Given the description of an element on the screen output the (x, y) to click on. 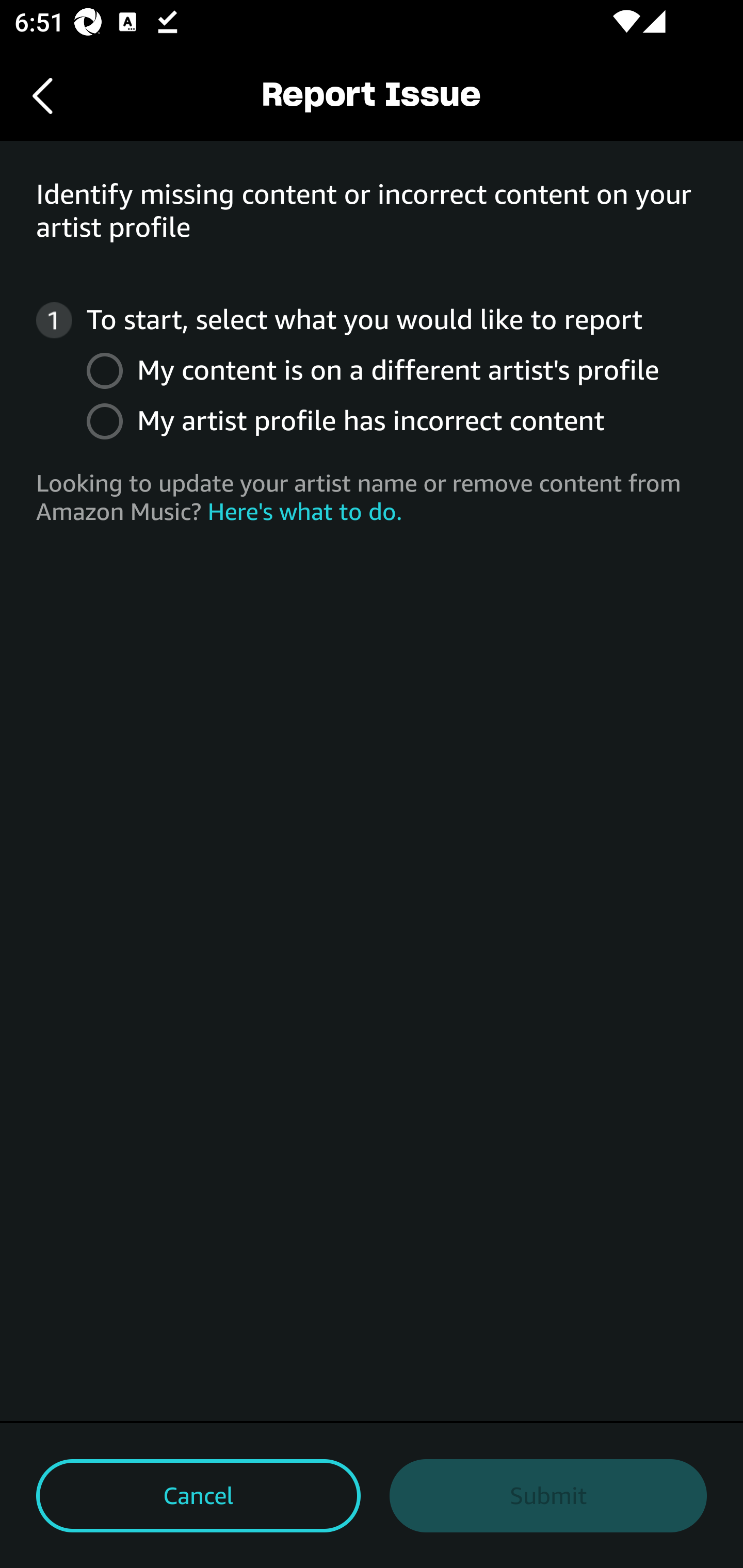
Cancel button Cancel (198, 1495)
Submit button Submit (547, 1495)
